Given the description of an element on the screen output the (x, y) to click on. 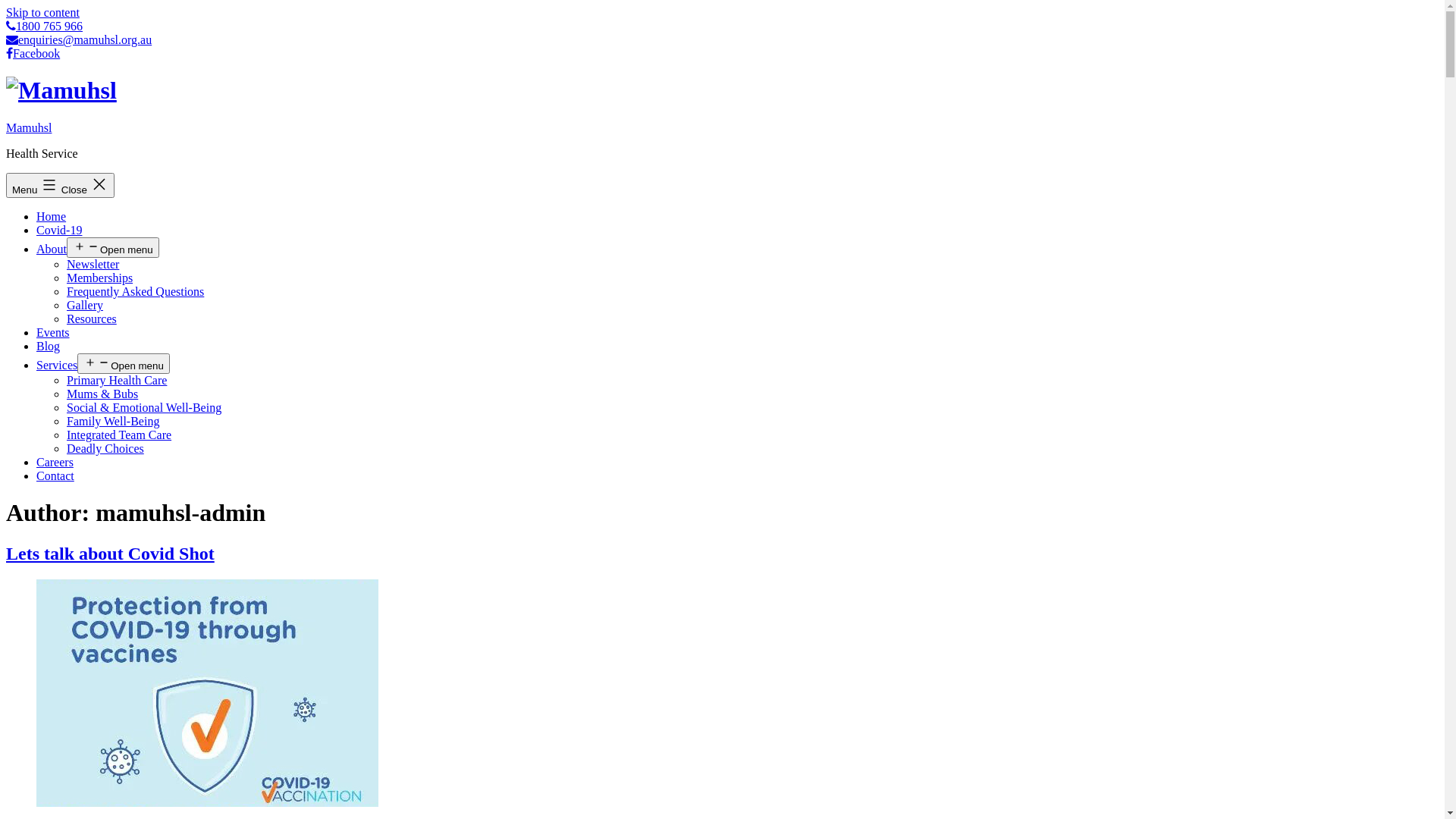
Services Element type: text (56, 364)
Home Element type: text (50, 216)
Social & Emotional Well-Being Element type: text (143, 407)
enquiries@mamuhsl.org.au Element type: text (78, 39)
Open menu Element type: text (112, 247)
Skip to content Element type: text (42, 12)
Contact Element type: text (55, 475)
Mums & Bubs Element type: text (102, 393)
1800 765 966 Element type: text (44, 25)
Lets talk about Covid Shot Element type: text (110, 553)
Careers Element type: text (54, 461)
Open menu Element type: text (123, 363)
Resources Element type: text (91, 318)
Gallery Element type: text (84, 304)
Newsletter Element type: text (92, 263)
Deadly Choices Element type: text (105, 448)
Integrated Team Care Element type: text (118, 434)
Events Element type: text (52, 332)
Covid-19 Element type: text (58, 229)
Menu Close Element type: text (60, 184)
Family Well-Being Element type: text (112, 420)
Frequently Asked Questions Element type: text (134, 291)
Blog Element type: text (47, 345)
Memberships Element type: text (99, 277)
Facebook Element type: text (32, 53)
Primary Health Care Element type: text (116, 379)
Mamuhsl Element type: text (28, 127)
About Element type: text (51, 248)
